Given the description of an element on the screen output the (x, y) to click on. 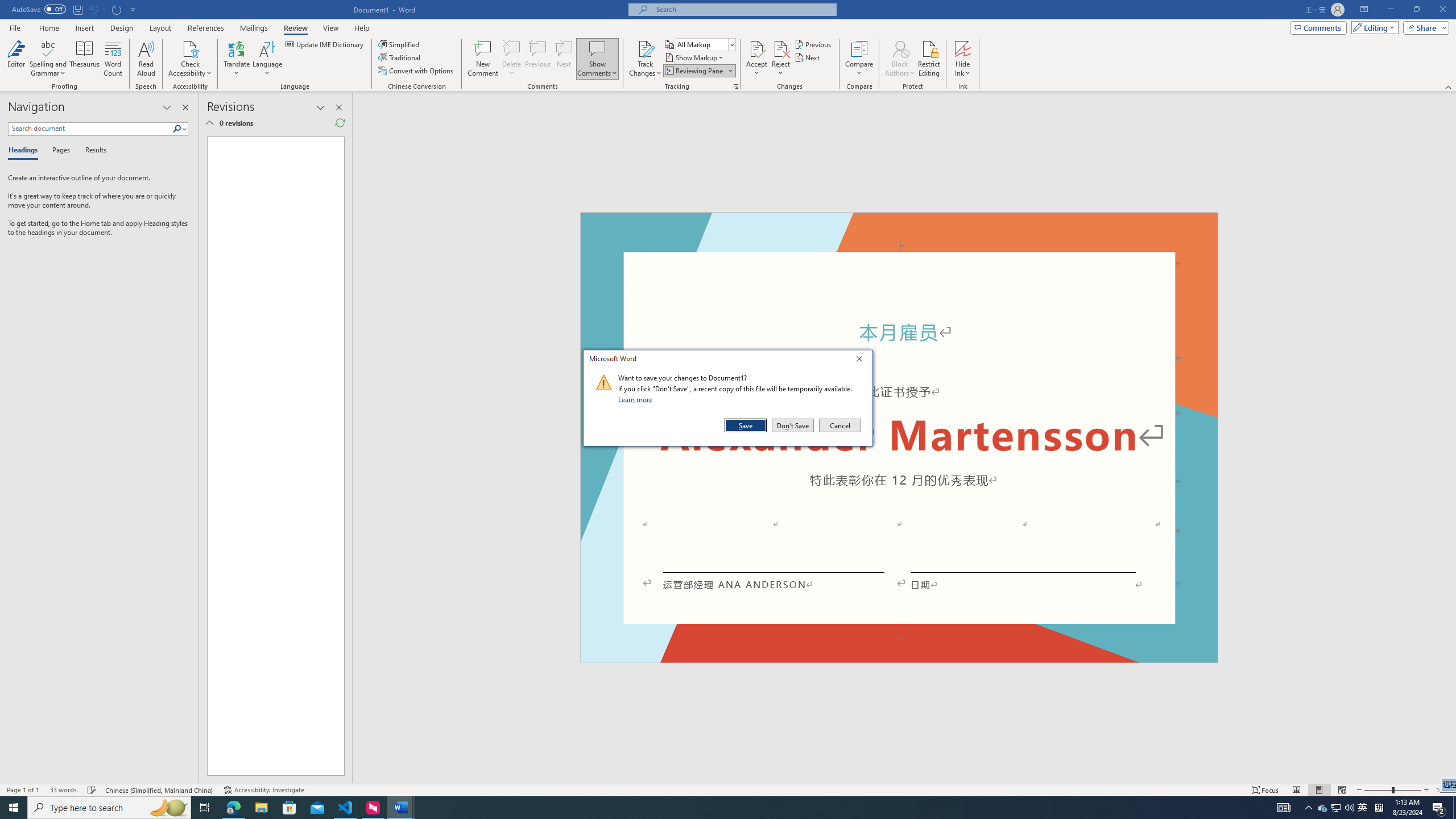
Hide Ink (962, 58)
Check Accessibility (189, 58)
Compare (859, 58)
Microsoft Edge - 1 running window (233, 807)
Refresh Reviewing Pane (339, 122)
Language (267, 58)
Thesaurus... (84, 58)
Can't Undo (96, 9)
